Given the description of an element on the screen output the (x, y) to click on. 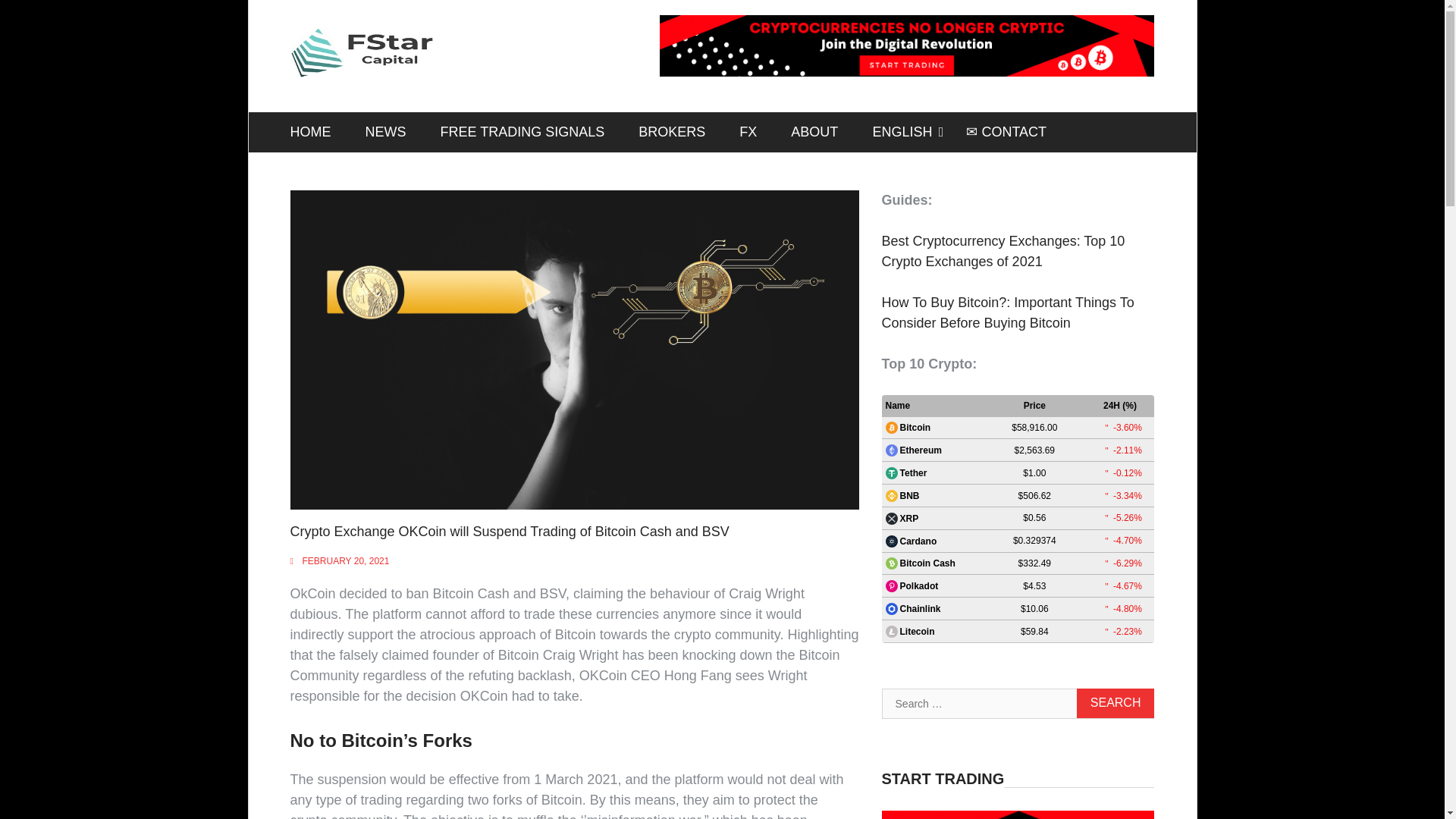
FREE TRADING SIGNALS (522, 132)
HOME (310, 132)
Search (1115, 703)
NEWS (386, 132)
Search (1115, 703)
ABOUT (814, 132)
Search (1115, 703)
FEBRUARY 20, 2021 (344, 561)
